Given the description of an element on the screen output the (x, y) to click on. 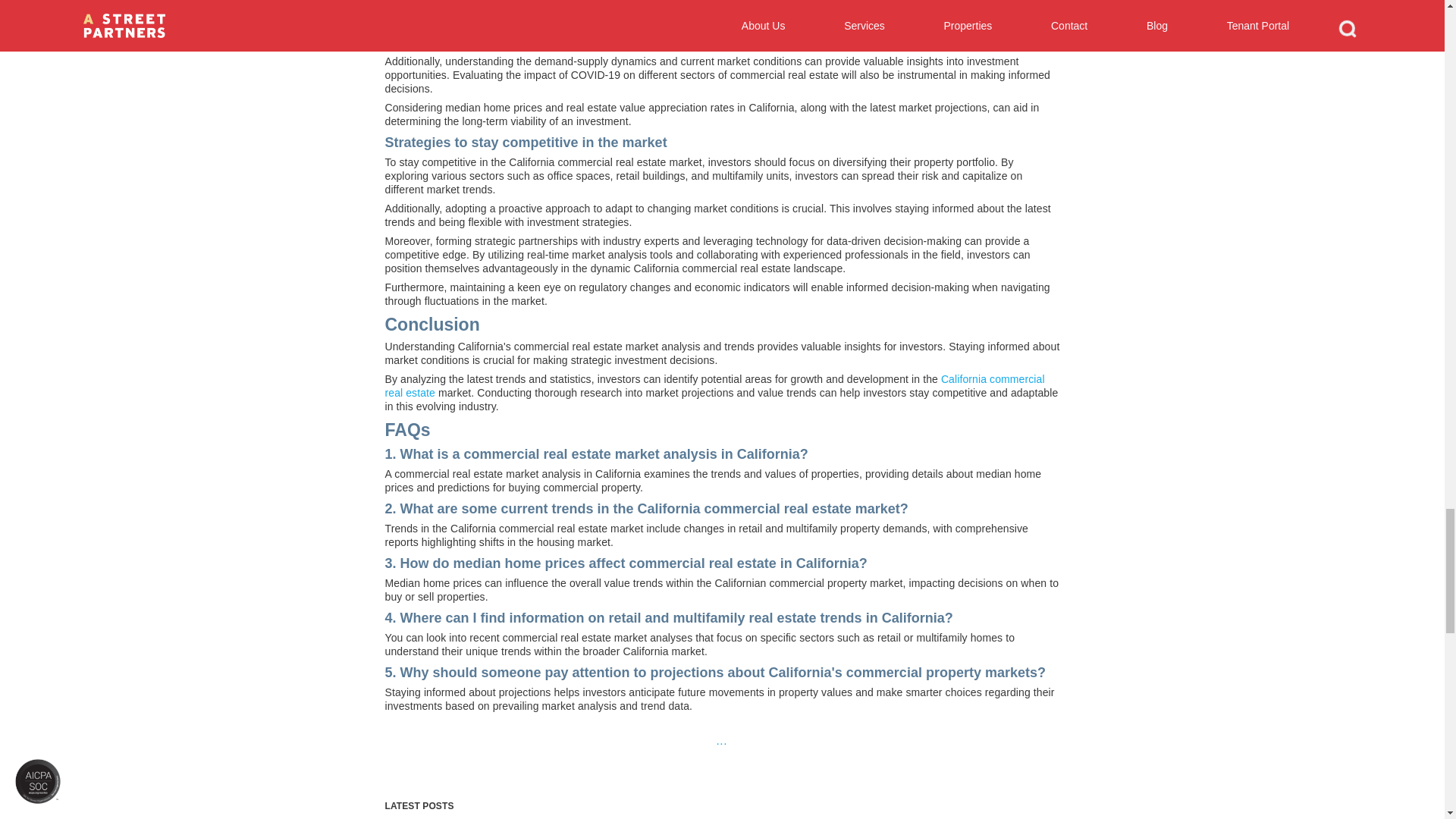
California commercial real estate (715, 385)
